Given the description of an element on the screen output the (x, y) to click on. 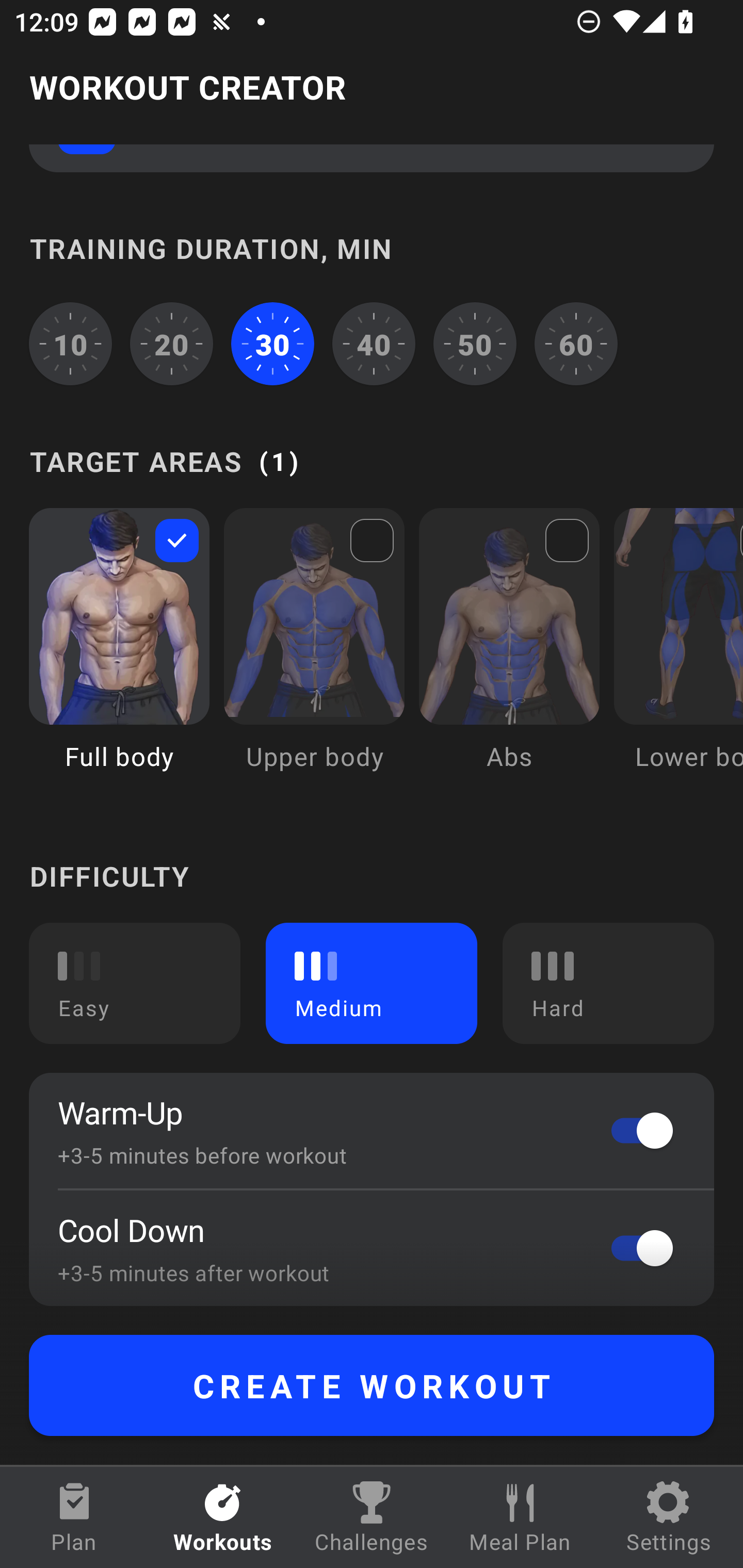
10 (70, 344)
20 (171, 344)
30 (272, 344)
40 (373, 344)
50 (474, 344)
60 (575, 344)
Upper body (313, 653)
Abs (509, 653)
Lower body (678, 653)
Easy (134, 982)
Hard (608, 982)
CREATE WORKOUT (371, 1385)
 Plan  (74, 1517)
 Challenges  (371, 1517)
 Meal Plan  (519, 1517)
 Settings  (668, 1517)
